Given the description of an element on the screen output the (x, y) to click on. 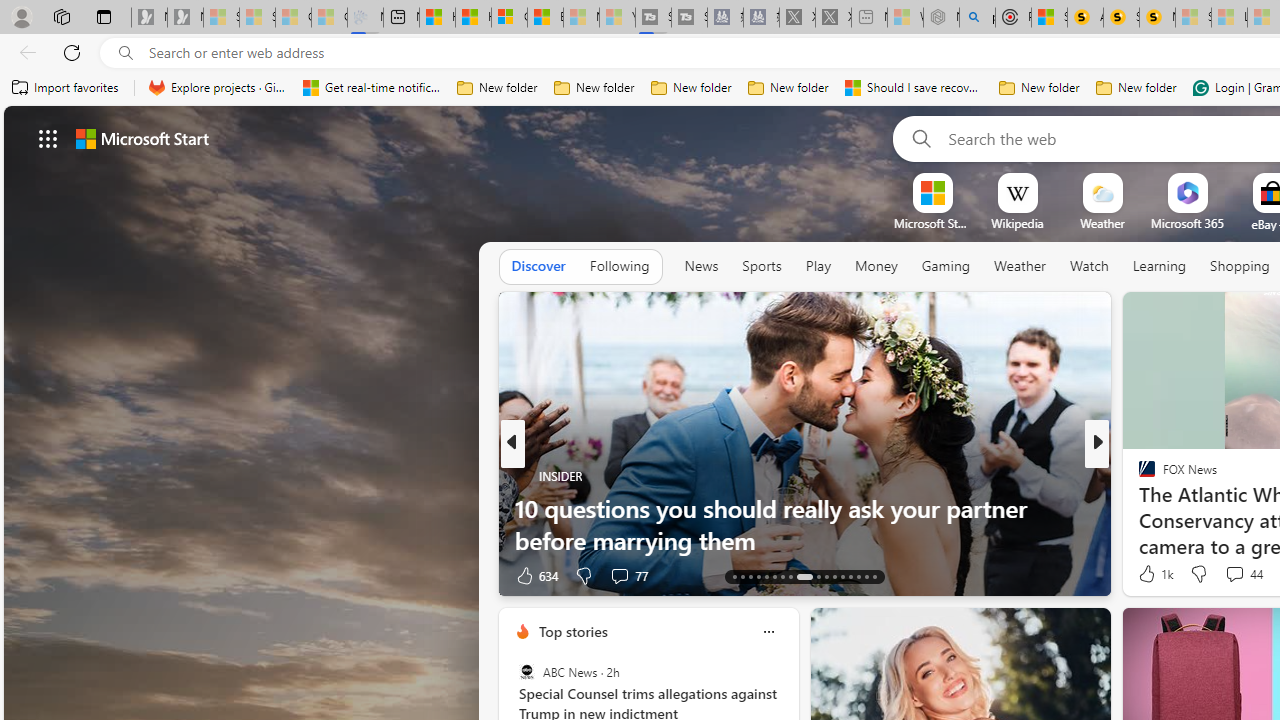
Forge of Empires (1175, 507)
CNBC (1138, 475)
View comments 5 Comment (1234, 574)
The Kanso (1138, 475)
View comments 77 Comment (619, 575)
AutomationID: tab-21 (804, 576)
AutomationID: tab-14 (742, 576)
21 Like (1149, 574)
Michelle Starr, Senior Journalist at ScienceAlert (1157, 17)
